Given the description of an element on the screen output the (x, y) to click on. 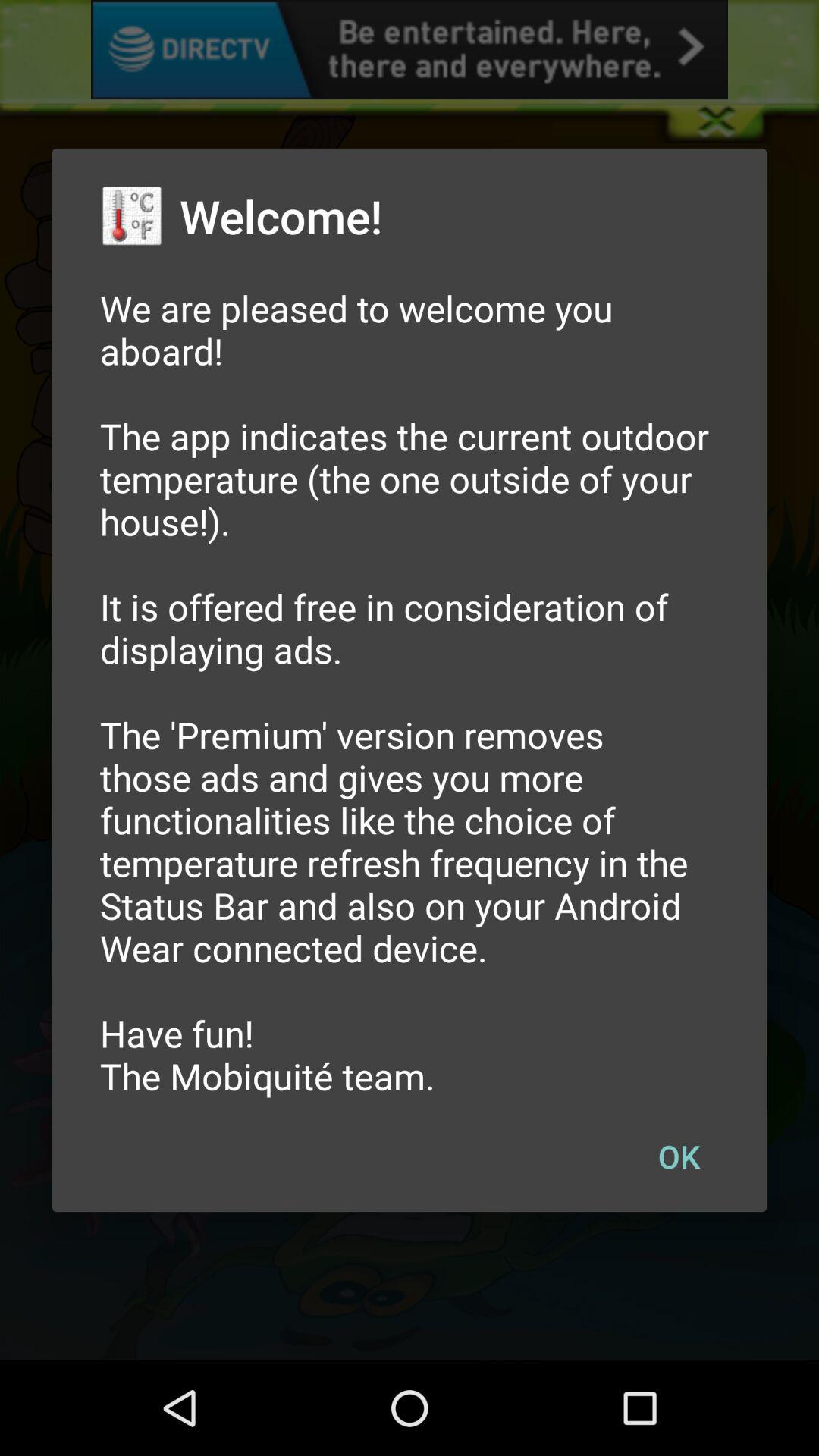
launch ok icon (678, 1156)
